Given the description of an element on the screen output the (x, y) to click on. 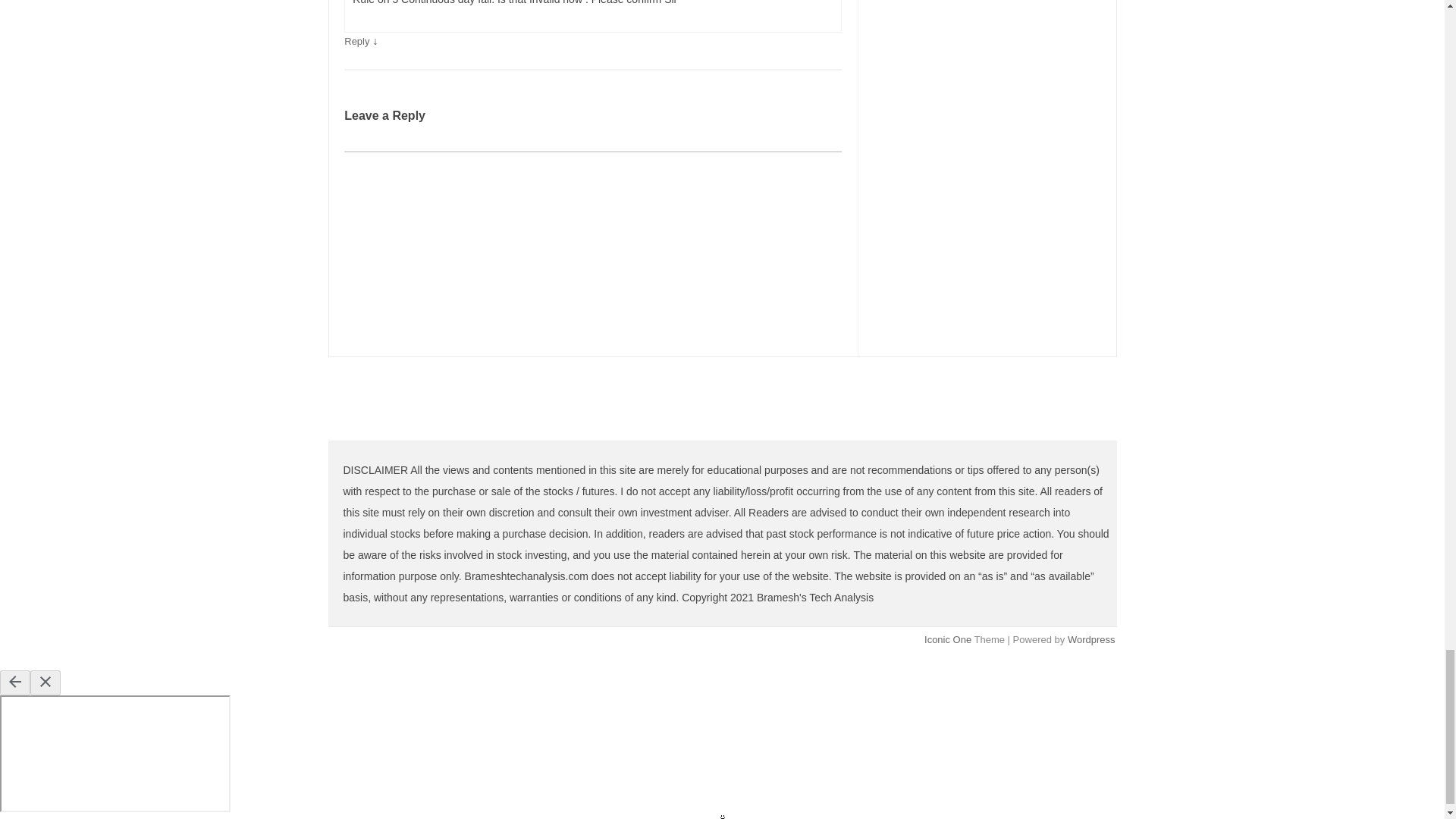
Reply (356, 41)
